Given the description of an element on the screen output the (x, y) to click on. 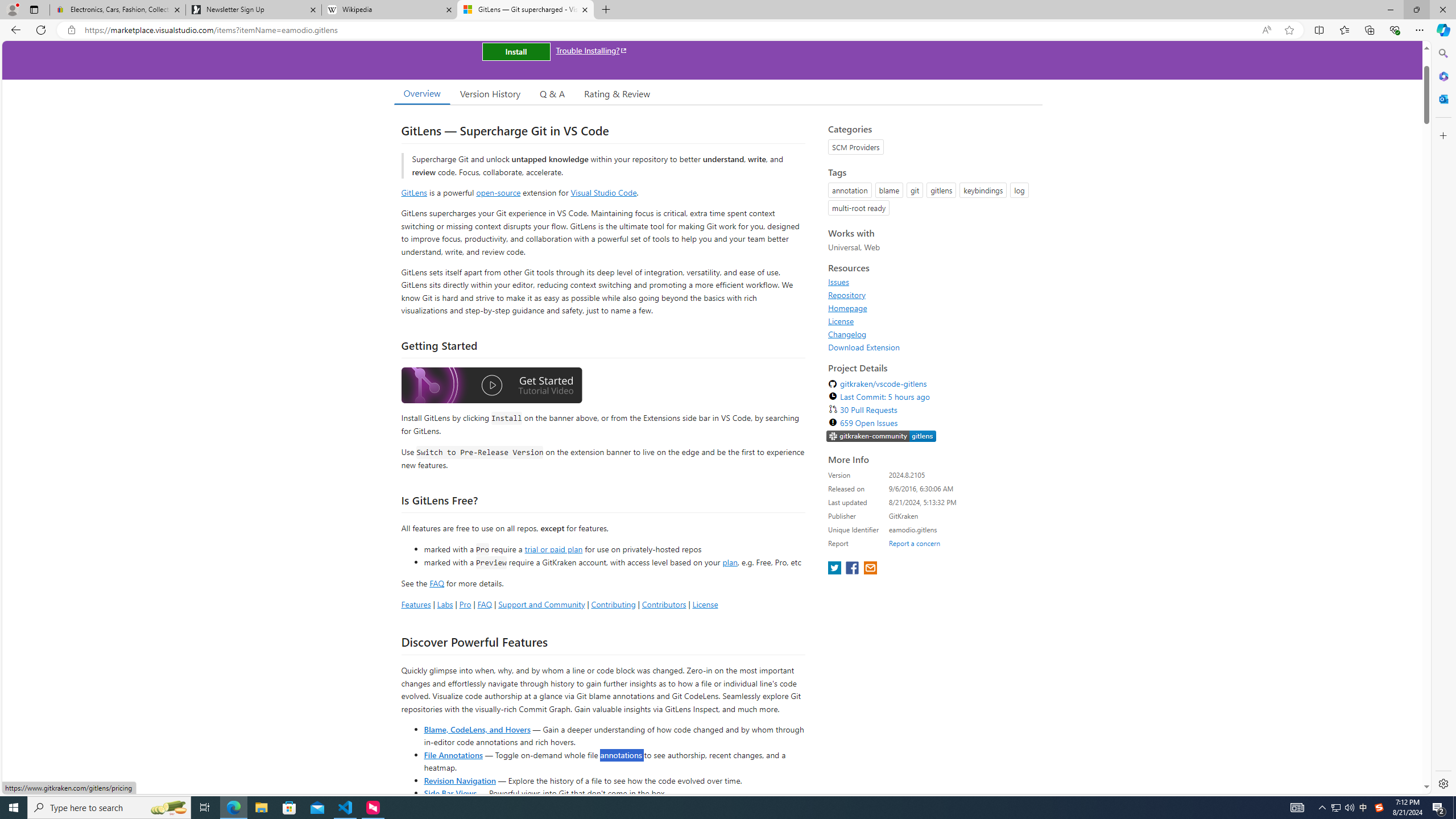
Rating & Review (618, 92)
Issues (838, 281)
Install (515, 51)
Repository (847, 294)
Download Extension (931, 346)
Side Bar Views (449, 792)
